Given the description of an element on the screen output the (x, y) to click on. 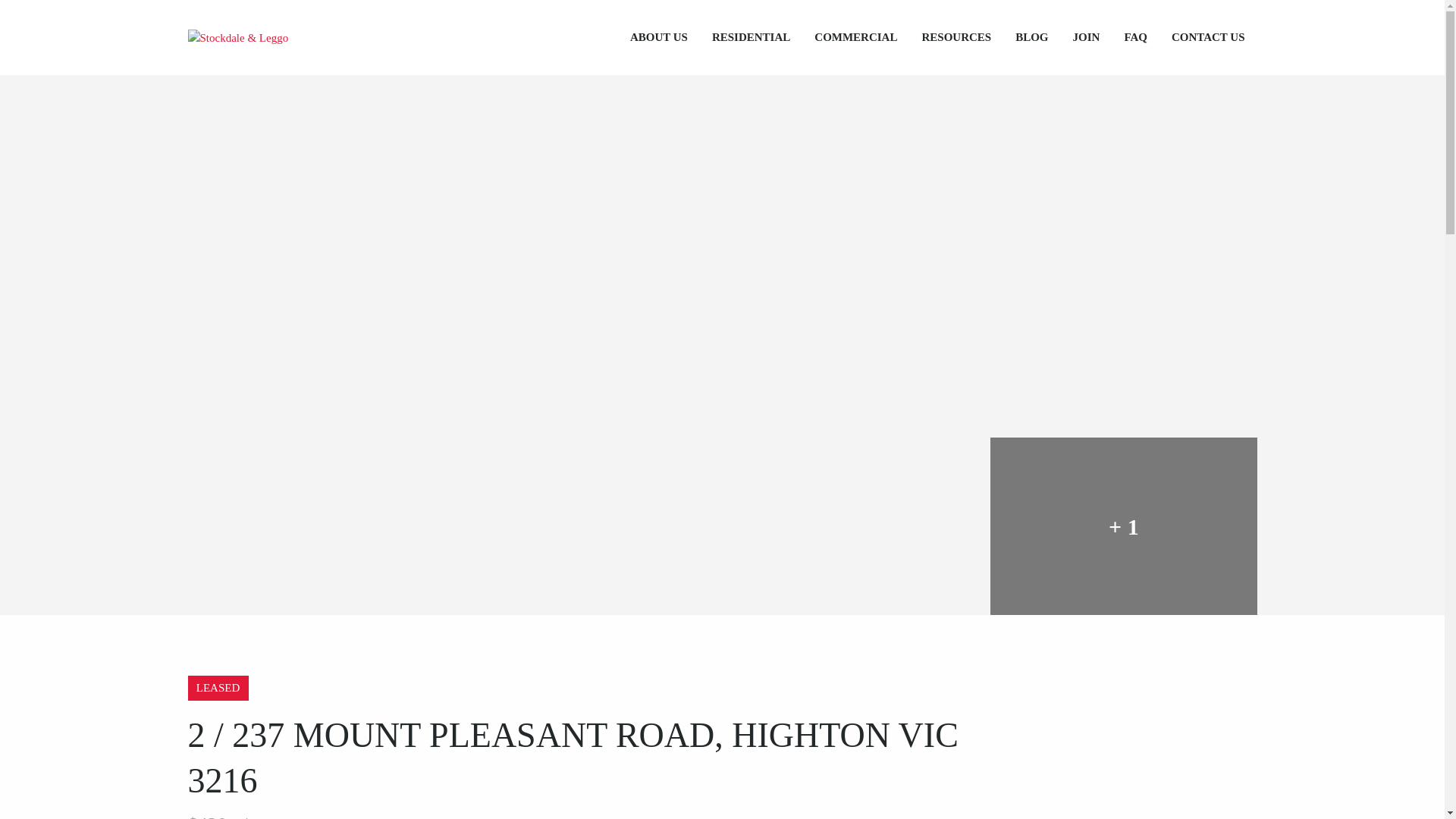
ABOUT US (658, 37)
